Given the description of an element on the screen output the (x, y) to click on. 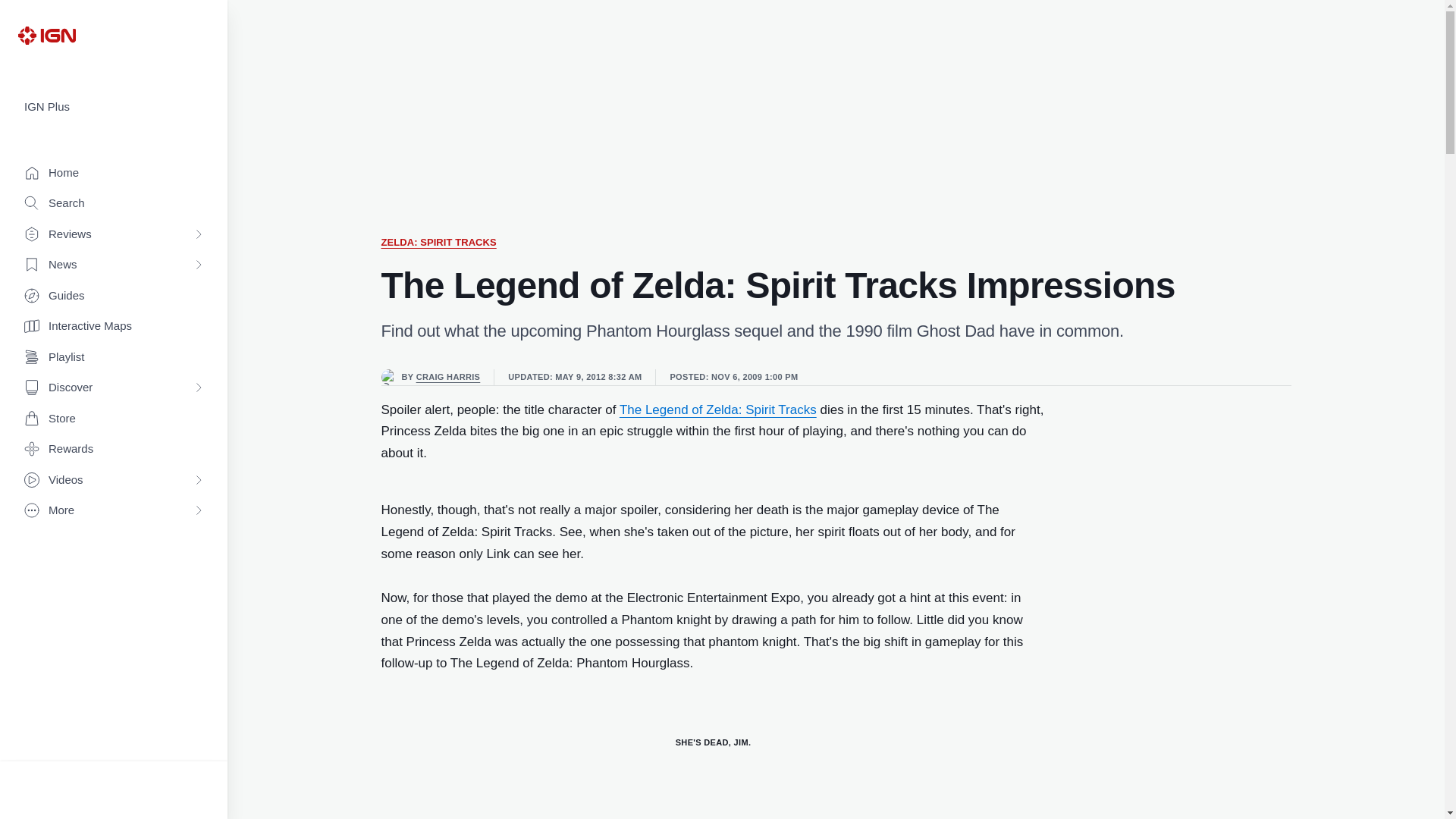
News (113, 265)
IGN (46, 35)
IGN Logo (46, 35)
Reviews (113, 234)
Interactive Maps (113, 326)
Playlist (113, 357)
Store (113, 418)
Discover (113, 387)
IGN Plus (113, 107)
Videos (113, 480)
Search (113, 203)
Reviews (113, 234)
IGN Logo (46, 34)
Videos (113, 480)
Guides (113, 295)
